Given the description of an element on the screen output the (x, y) to click on. 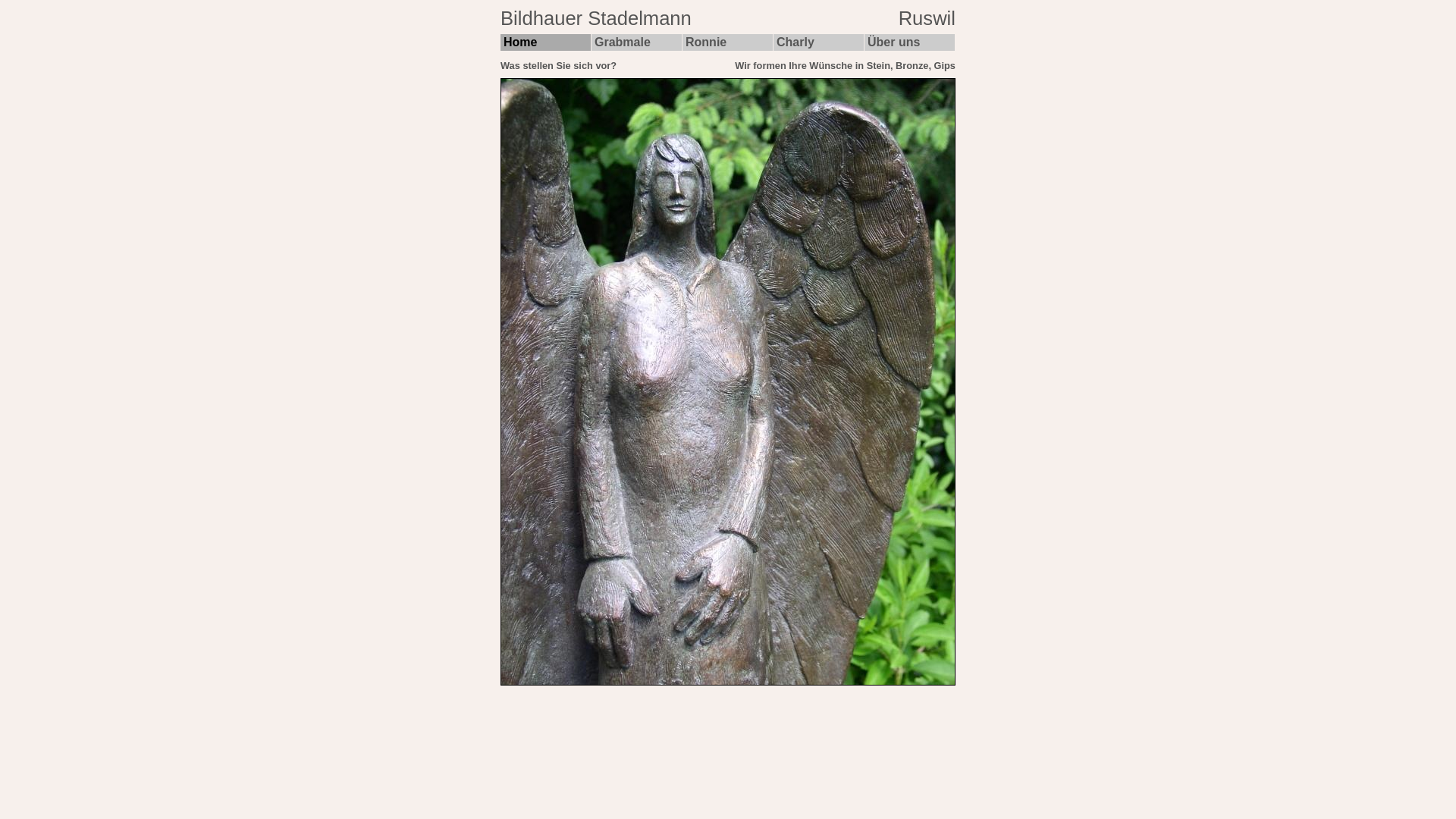
Bildhauer Stadelmann
Ruswil Element type: text (727, 20)
Engel Element type: hover (727, 381)
Home Element type: text (545, 42)
Grabmale Element type: text (636, 42)
Ronnie Element type: text (727, 42)
Charly Element type: text (818, 42)
